Given the description of an element on the screen output the (x, y) to click on. 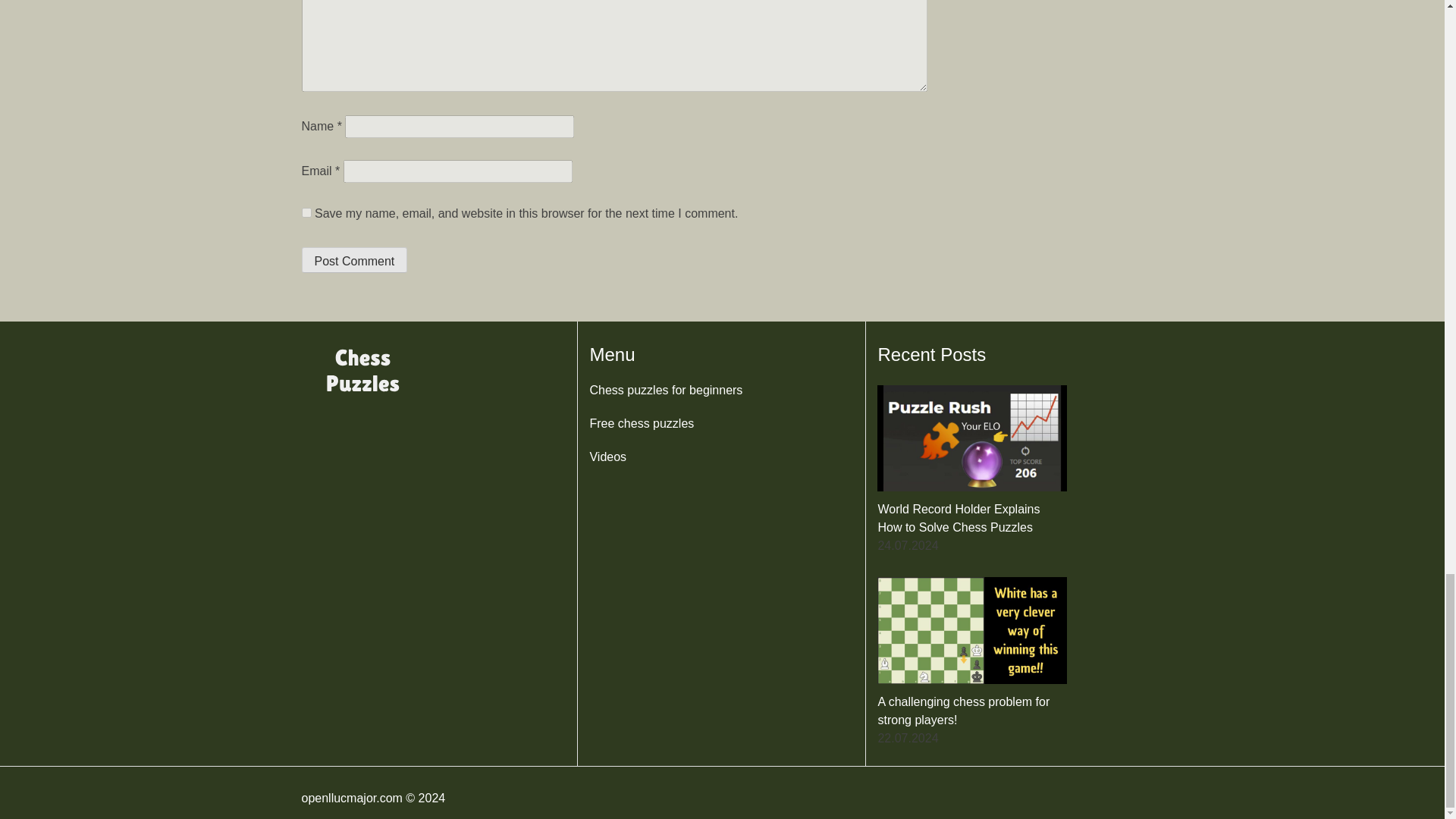
Post Comment (354, 259)
Post Comment (354, 259)
Chess puzzles for beginners (665, 390)
Videos (607, 456)
Free chess puzzles (641, 422)
yes (306, 212)
